Given the description of an element on the screen output the (x, y) to click on. 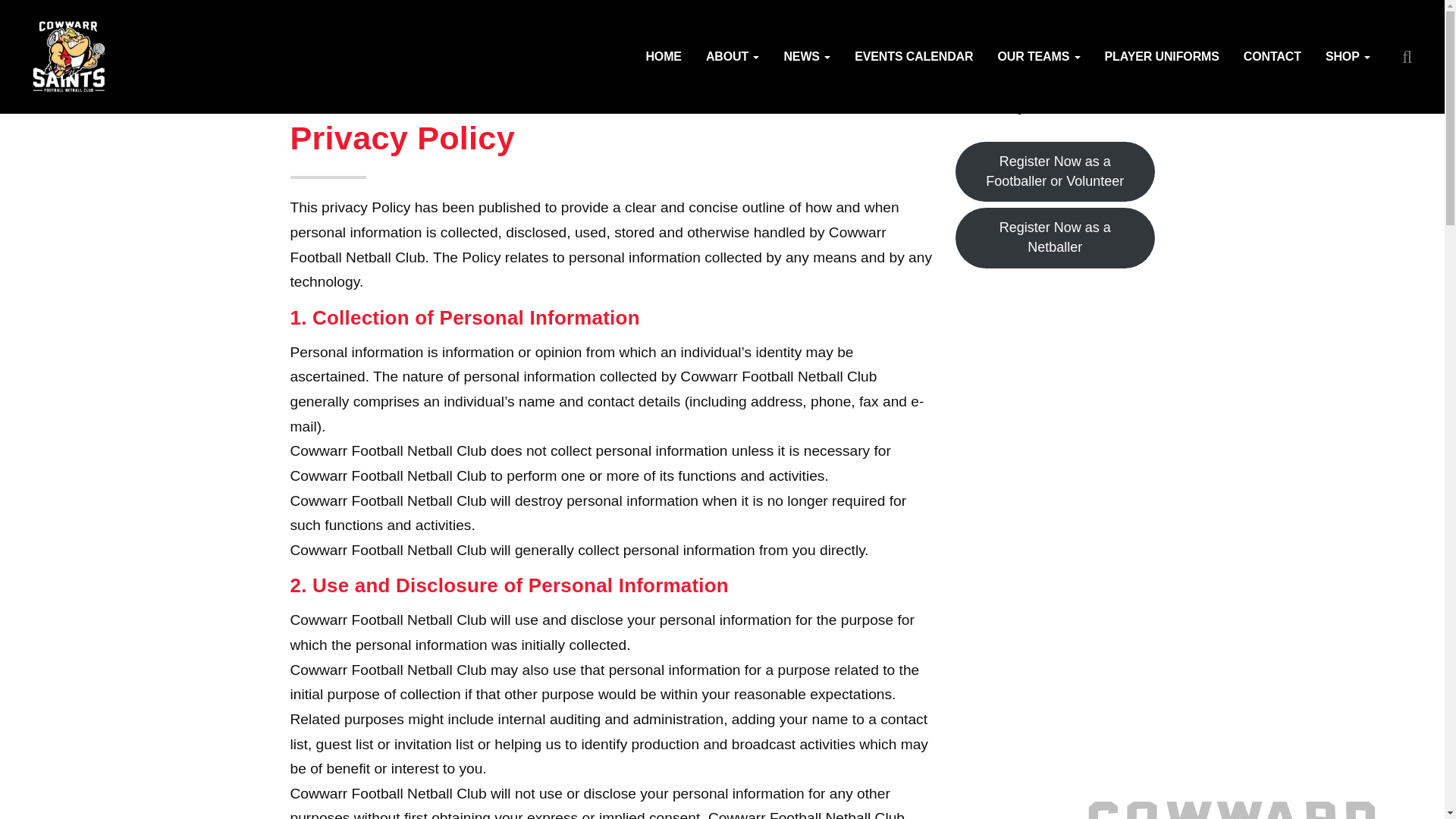
SHOP (1347, 57)
PLAYER UNIFORMS (1162, 57)
OUR TEAMS (1038, 57)
NEWS (807, 57)
Register Now as a Netballer (1054, 237)
Register Now as a Footballer or Volunteer (1054, 171)
ABOUT (732, 57)
CONTACT (1272, 57)
EVENTS CALENDAR (914, 57)
HOME (663, 57)
